Given the description of an element on the screen output the (x, y) to click on. 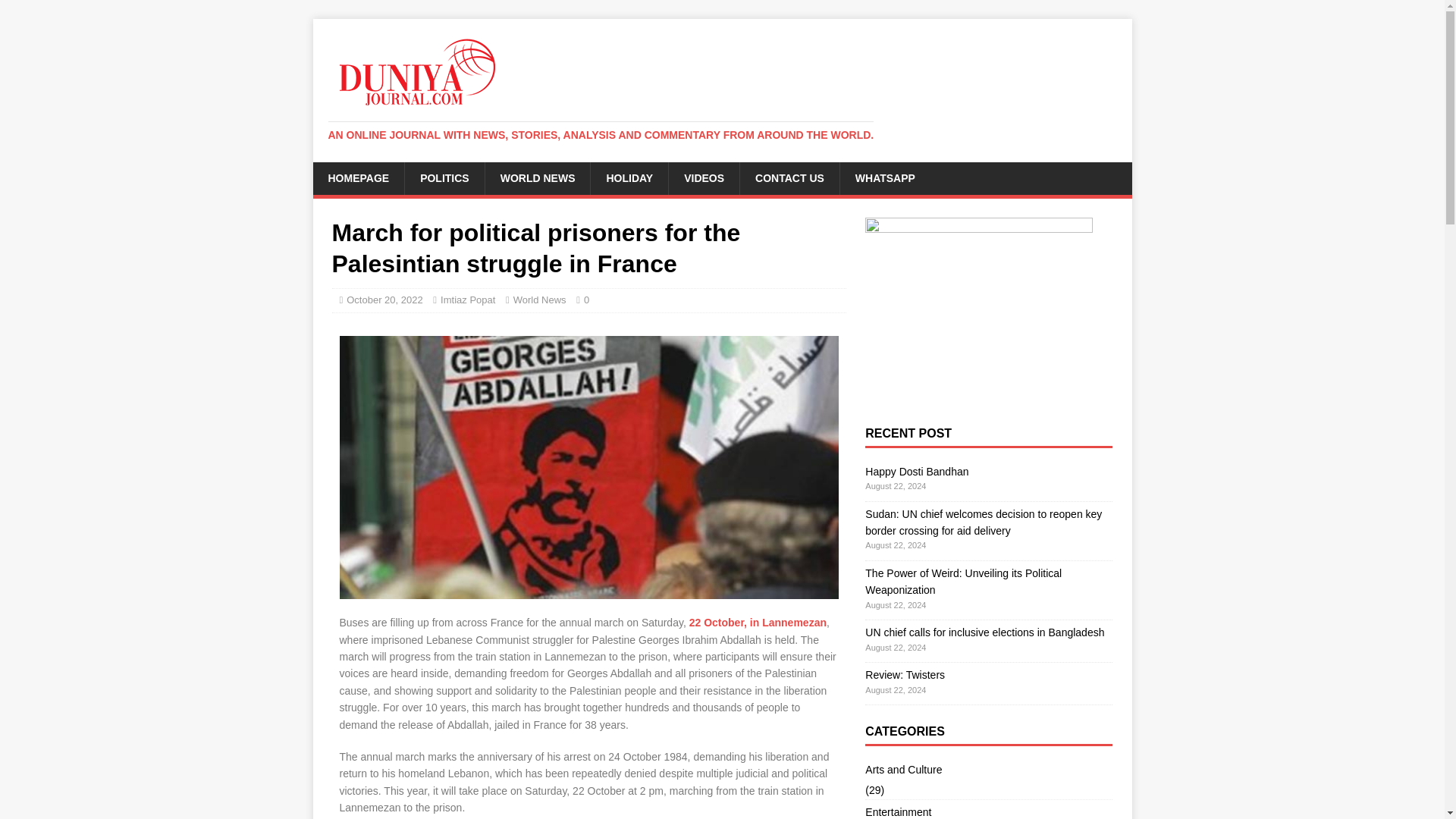
WORLD NEWS (537, 178)
World News (539, 299)
POLITICS (444, 178)
UN chief calls for inclusive elections in Bangladesh (983, 632)
Imtiaz Popat (468, 299)
VIDEOS (703, 178)
Happy Dosti Bandhan (916, 471)
CONTACT US (789, 178)
October 20, 2022 (384, 299)
WHATSAPP (885, 178)
